Given the description of an element on the screen output the (x, y) to click on. 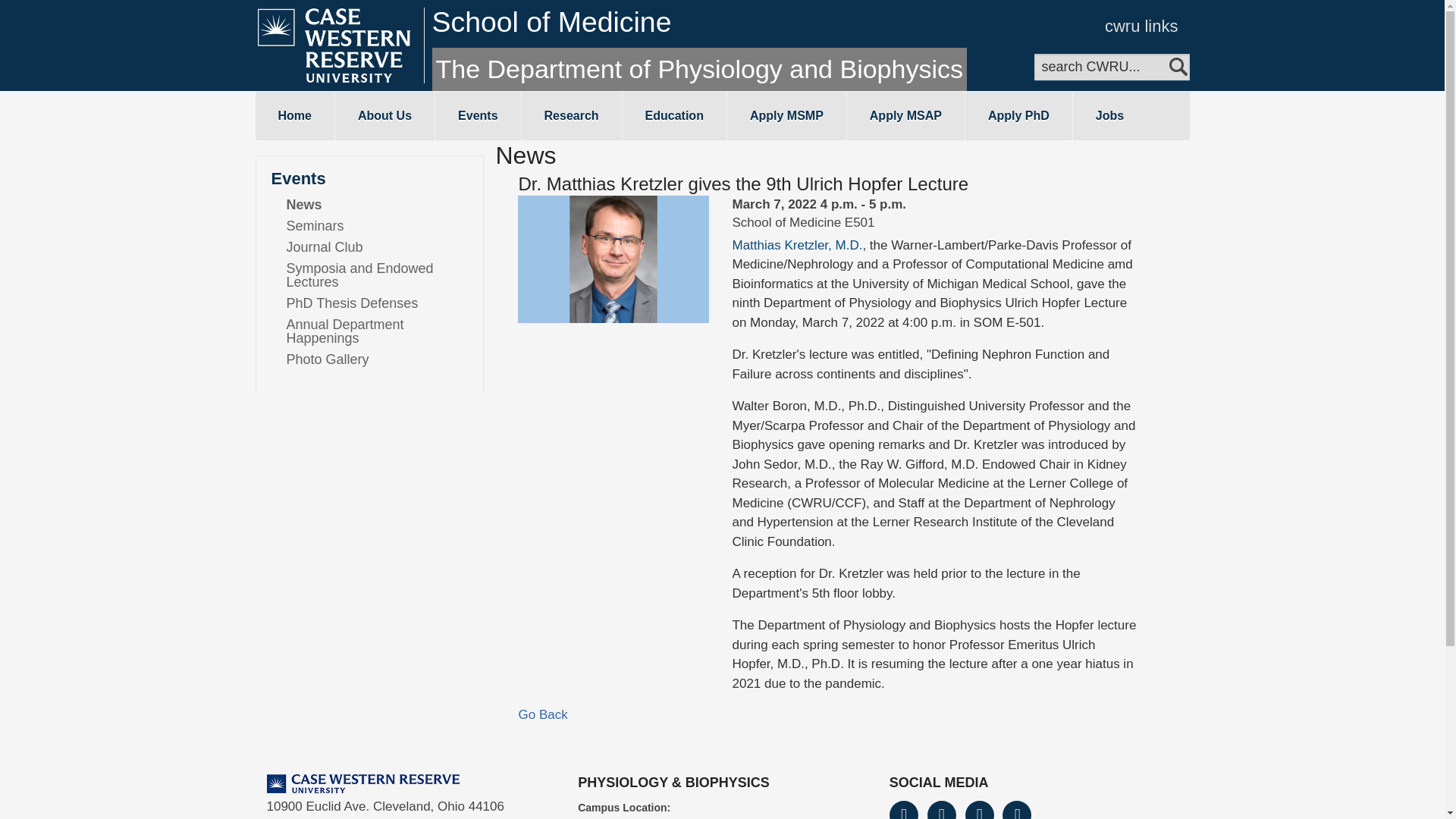
CWRU Linkedin (1016, 809)
Events (477, 115)
About Us (383, 115)
search CWRU... (1111, 67)
CWRU Twitter (941, 809)
Home (293, 115)
Case Western Reserve University (363, 783)
The Department of Physiology and Biophysics (698, 68)
School of Medicine (551, 21)
CWRU Facebook (903, 809)
Education (674, 115)
Research (571, 115)
CWRU Instagram (979, 809)
search CWRU... (1111, 67)
